Given the description of an element on the screen output the (x, y) to click on. 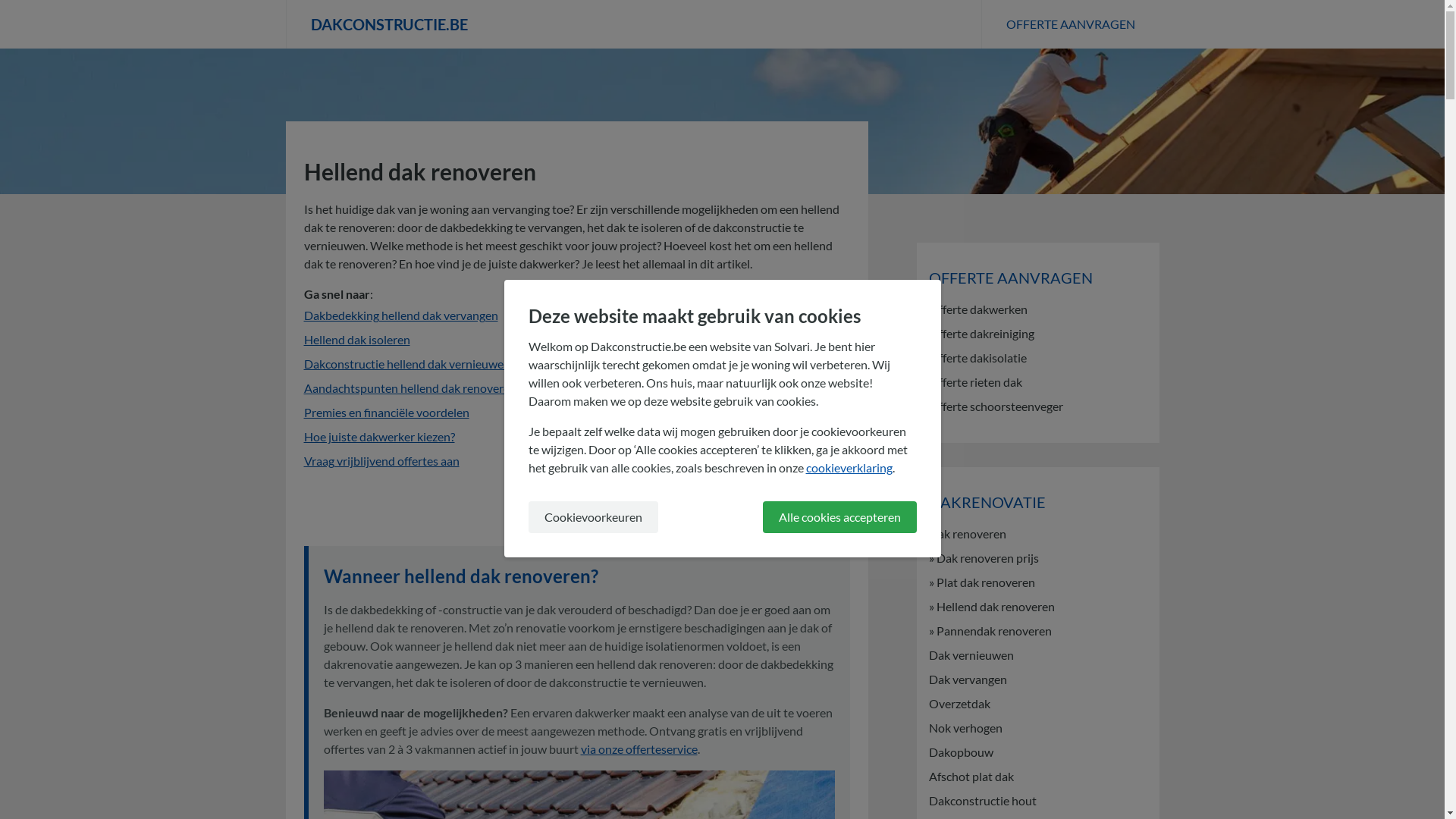
Offerte dakreiniging Element type: text (1037, 333)
Cookievoorkeuren Element type: text (592, 517)
Offerte dakwerken Element type: text (1037, 309)
Offerte schoorsteenveger Element type: text (1037, 406)
Dak vernieuwen Element type: text (1037, 655)
Afschot plat dak Element type: text (1037, 776)
Dak renoveren Element type: text (1037, 533)
via onze offerteservice Element type: text (638, 748)
Dakconstructie hellend dak vernieuwen Element type: text (406, 363)
Dakconstructie hout Element type: text (1037, 800)
Offerte rieten dak Element type: text (1037, 382)
Dakbedekking hellend dak vervangen Element type: text (400, 315)
Offerte dakisolatie Element type: text (1037, 357)
Aandachtspunten hellend dak renoveren Element type: text (409, 388)
OFFERTE AANVRAGEN Element type: text (1070, 24)
Vraag vrijblijvend offertes aan Element type: text (380, 460)
Dak vervangen Element type: text (1037, 679)
Nok verhogen Element type: text (1037, 727)
cookieverklaring Element type: text (848, 467)
Dakopbouw Element type: text (1037, 752)
Alle cookies accepteren Element type: text (839, 517)
Overzetdak Element type: text (1037, 703)
DAKCONSTRUCTIE.BE Element type: text (632, 24)
Hoe juiste dakwerker kiezen? Element type: text (378, 436)
Hellend dak isoleren Element type: text (356, 339)
